Given the description of an element on the screen output the (x, y) to click on. 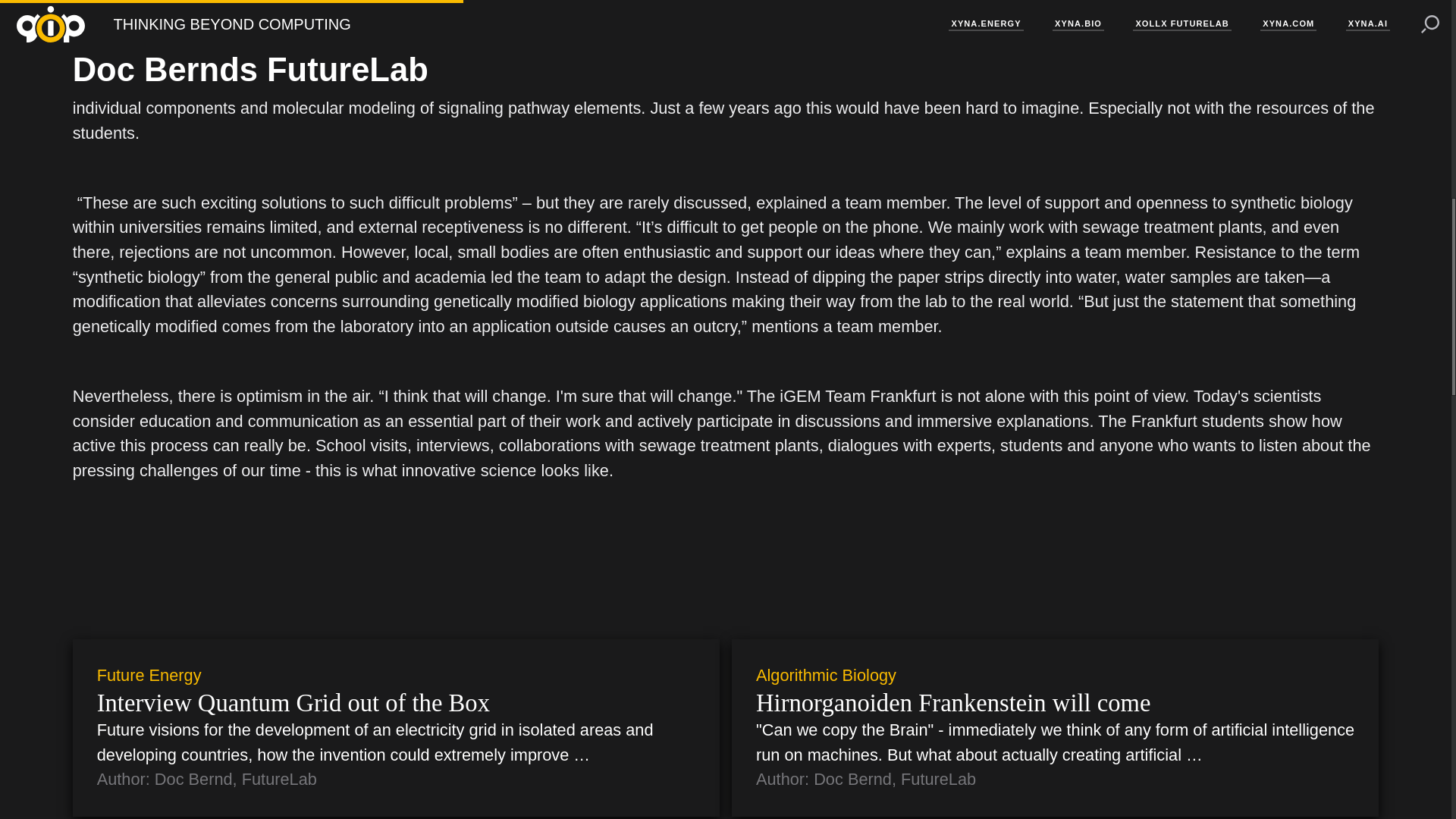
Interview Quantum Grid out of the Box (396, 703)
Hirnorganoiden Frankenstein will come (1054, 703)
